Given the description of an element on the screen output the (x, y) to click on. 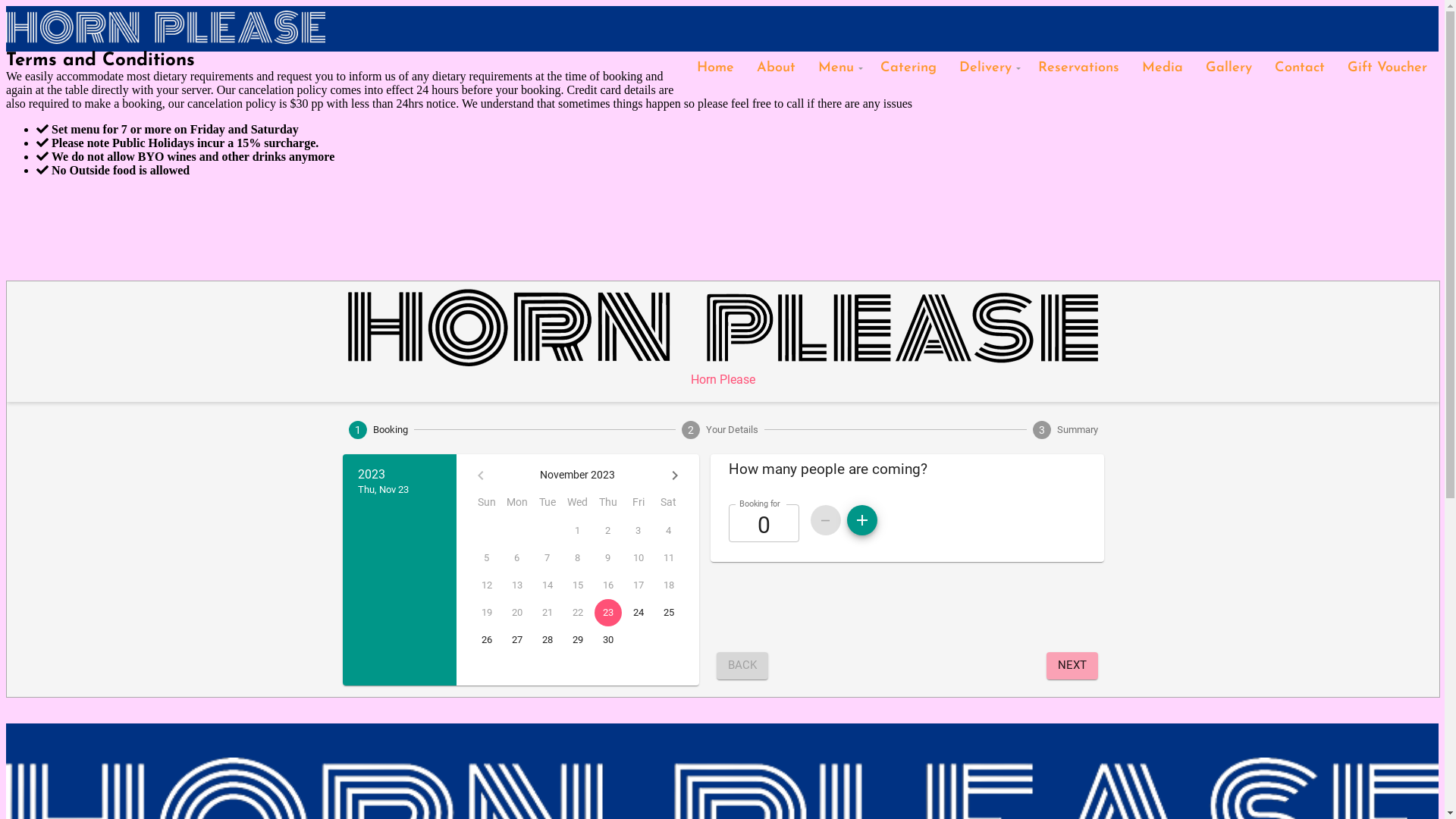
Reservations Element type: text (1078, 67)
About Element type: text (775, 67)
Media Element type: text (1162, 67)
Home Element type: text (715, 67)
Contact Element type: text (1299, 67)
Gallery Element type: text (1228, 67)
Menu Element type: text (837, 67)
Catering Element type: text (908, 67)
Delivery Element type: text (986, 67)
Gift Voucher Element type: text (1387, 67)
